Given the description of an element on the screen output the (x, y) to click on. 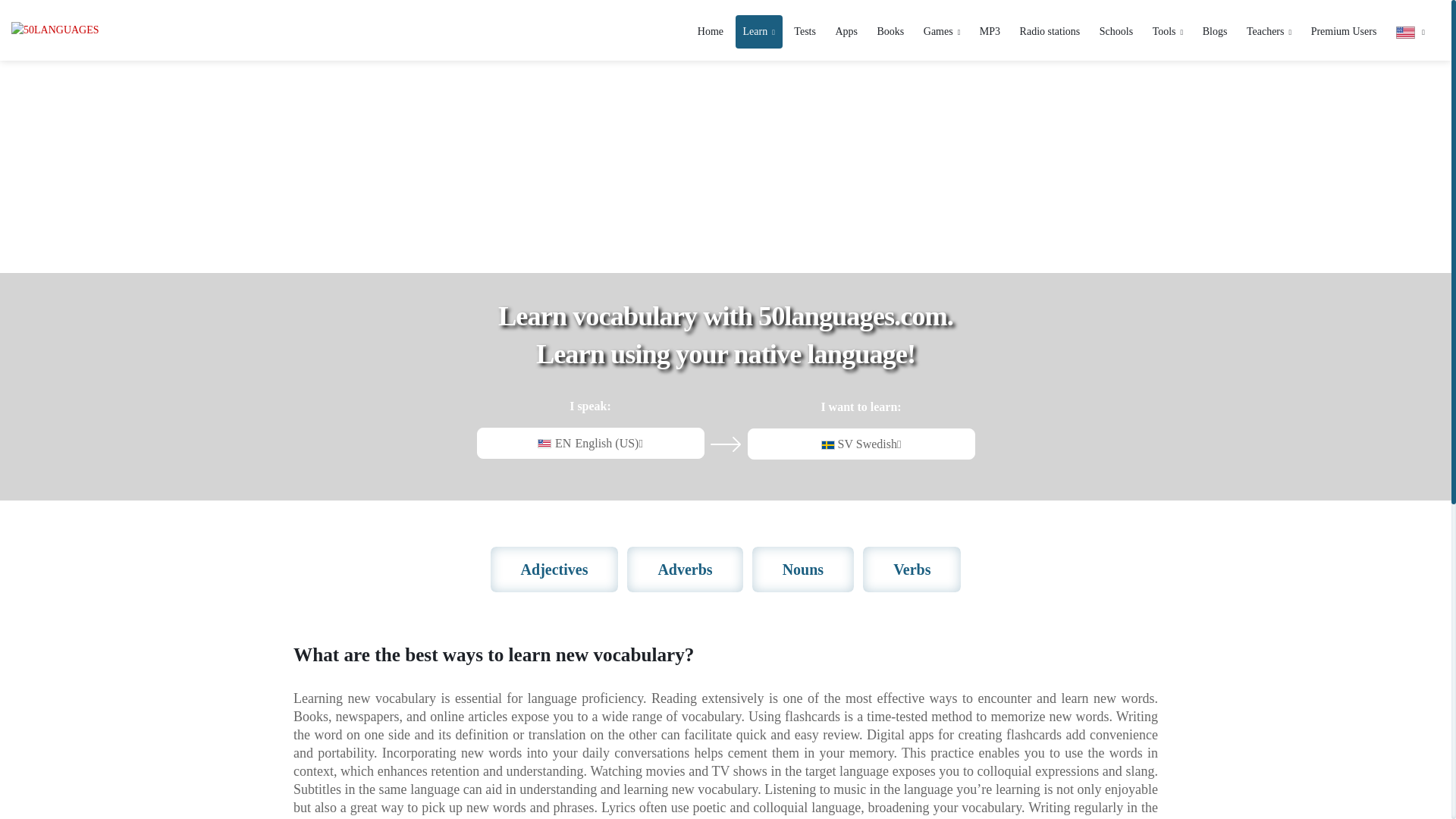
Apps (845, 31)
Schools (1116, 31)
MP3 (989, 31)
Blogs (1214, 31)
Tests (805, 31)
Radio stations (1049, 31)
Books (890, 31)
Home (710, 31)
